Given the description of an element on the screen output the (x, y) to click on. 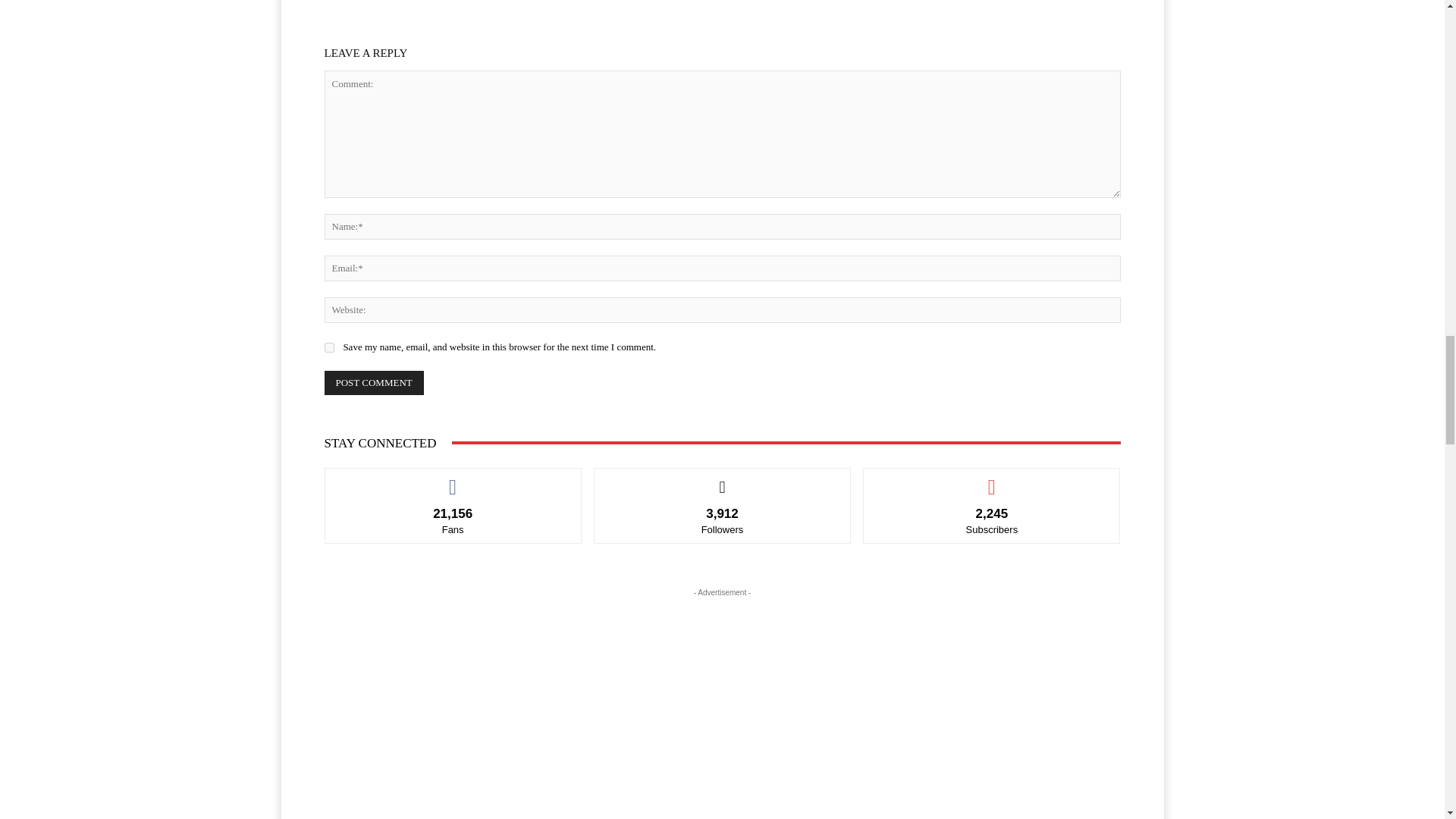
Post Comment (373, 382)
yes (329, 347)
